Given the description of an element on the screen output the (x, y) to click on. 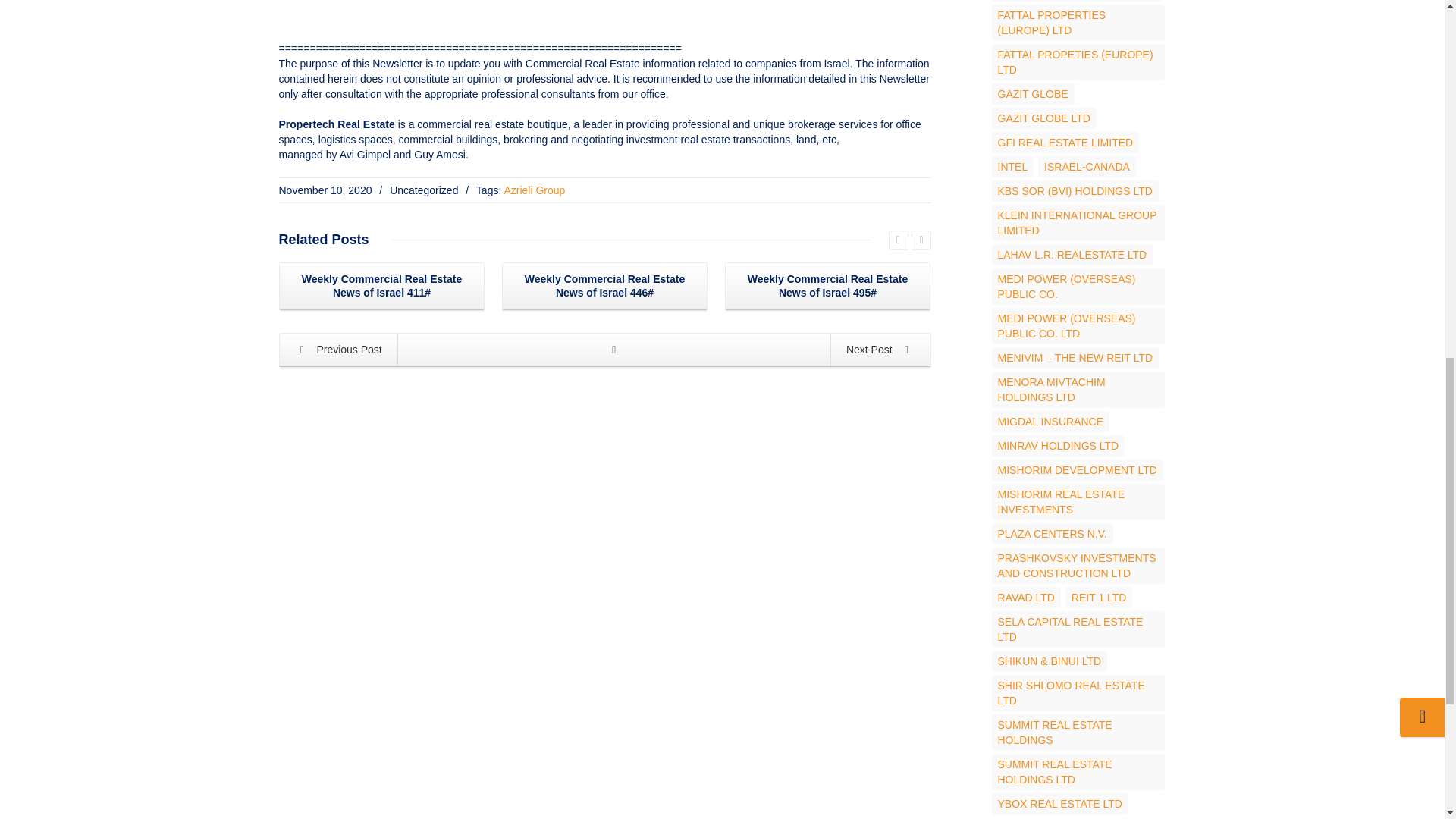
Go to the blog page (614, 349)
Next Post (879, 349)
Azrieli Group (533, 190)
Previous Post (338, 349)
